Given the description of an element on the screen output the (x, y) to click on. 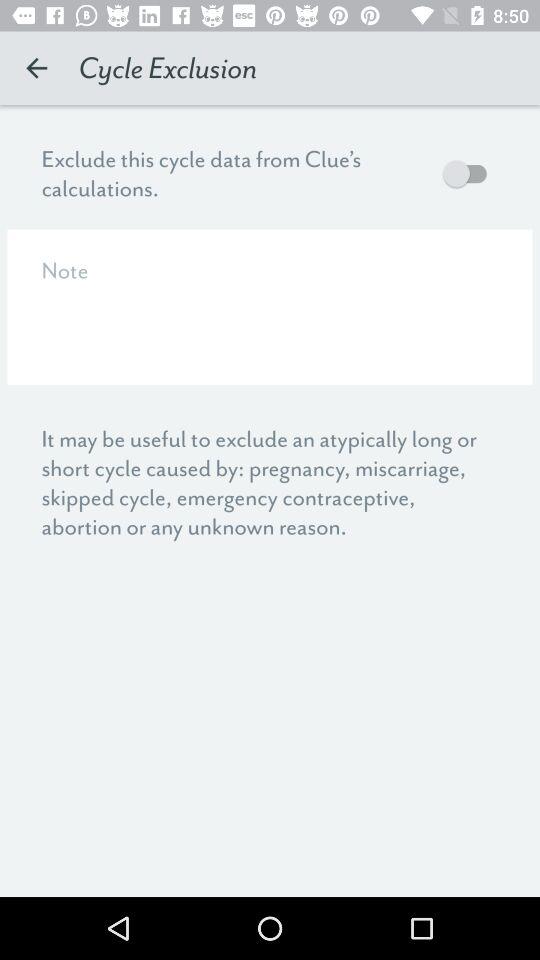
launch item next to exclude this cycle item (469, 173)
